Given the description of an element on the screen output the (x, y) to click on. 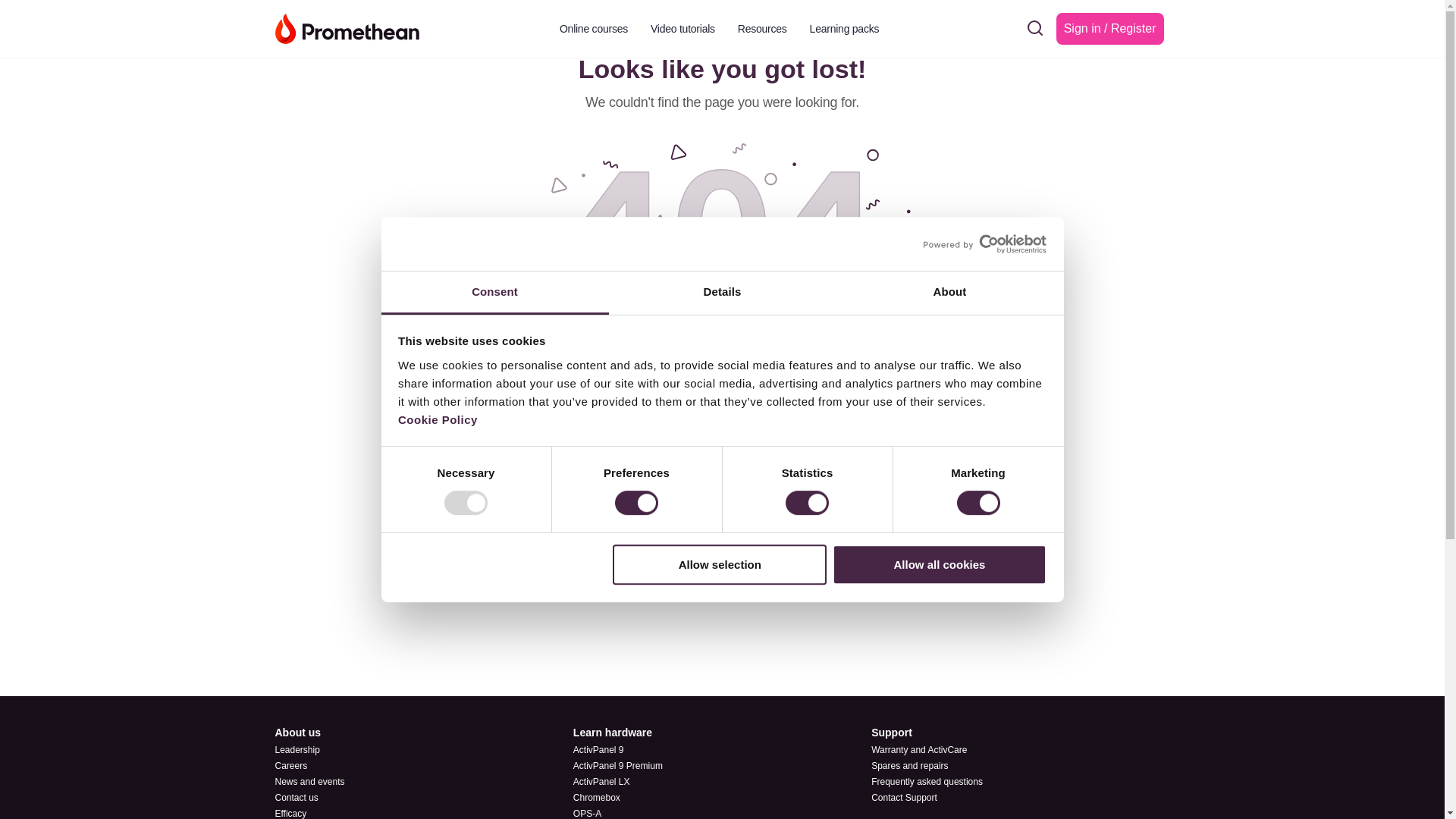
Consent (494, 292)
Details (721, 292)
Cookie Policy (437, 419)
About (948, 292)
